Given the description of an element on the screen output the (x, y) to click on. 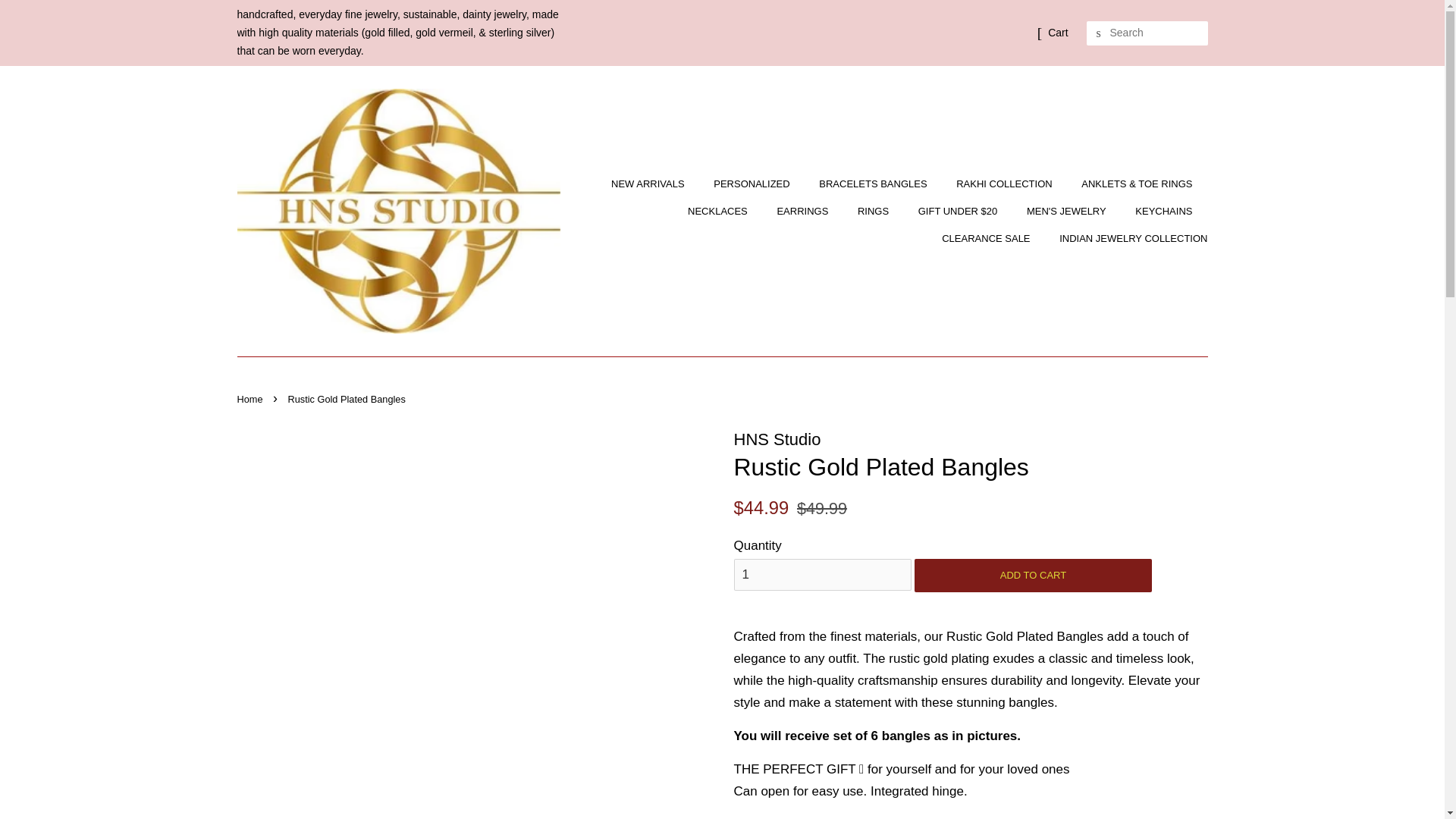
Home (250, 398)
NECKLACES (719, 211)
KEYCHAINS (1165, 211)
Cart (1057, 33)
1 (822, 574)
MEN'S JEWELRY (1067, 211)
Back to the frontpage (250, 398)
SEARCH (1097, 33)
INDIAN JEWELRY COLLECTION (1127, 238)
RAKHI COLLECTION (1005, 184)
